Given the description of an element on the screen output the (x, y) to click on. 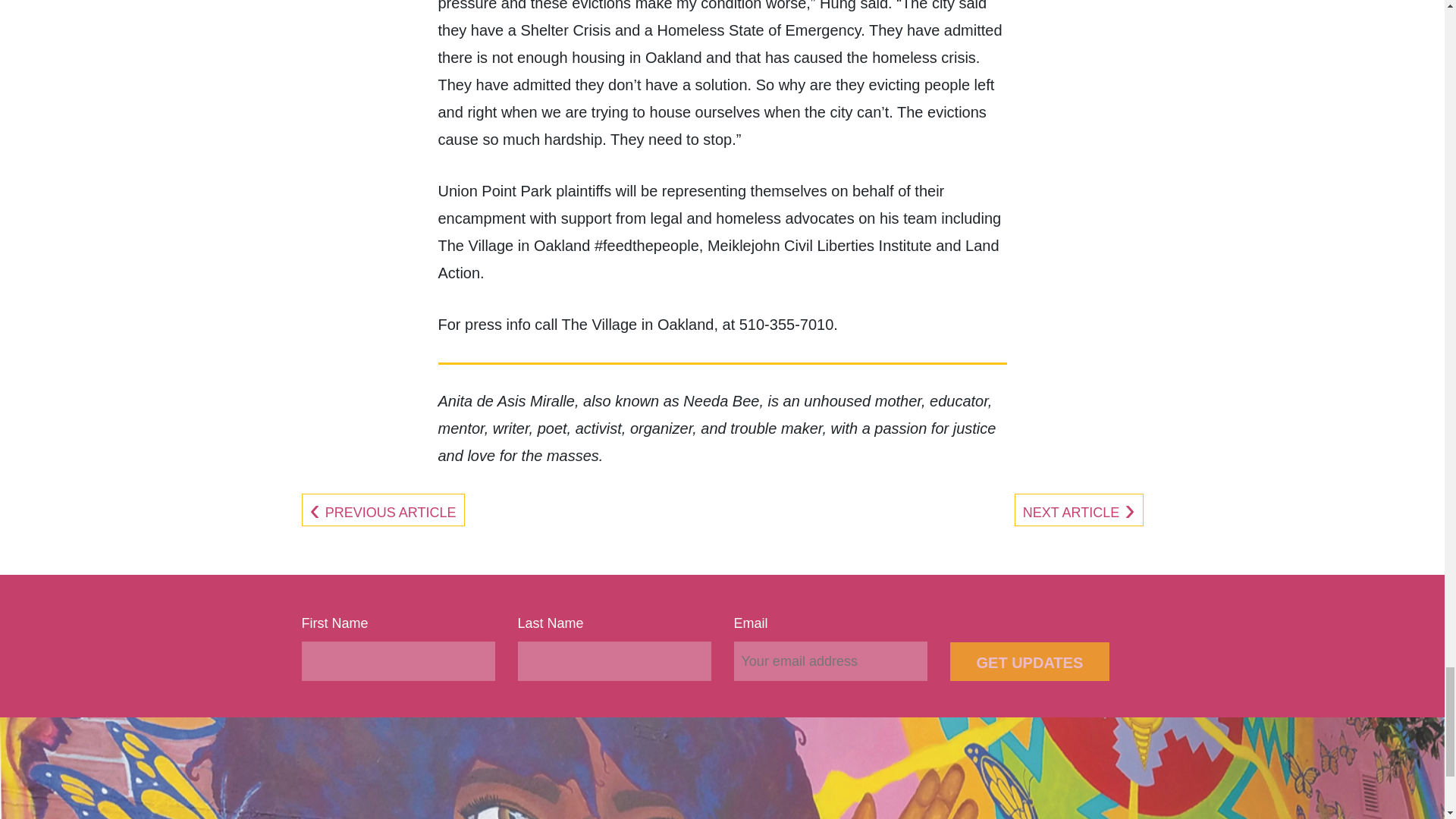
Get Updates (1029, 661)
Get Updates (1029, 661)
PREVIOUS ARTICLE (381, 512)
NEXT ARTICLE (1079, 512)
